Given the description of an element on the screen output the (x, y) to click on. 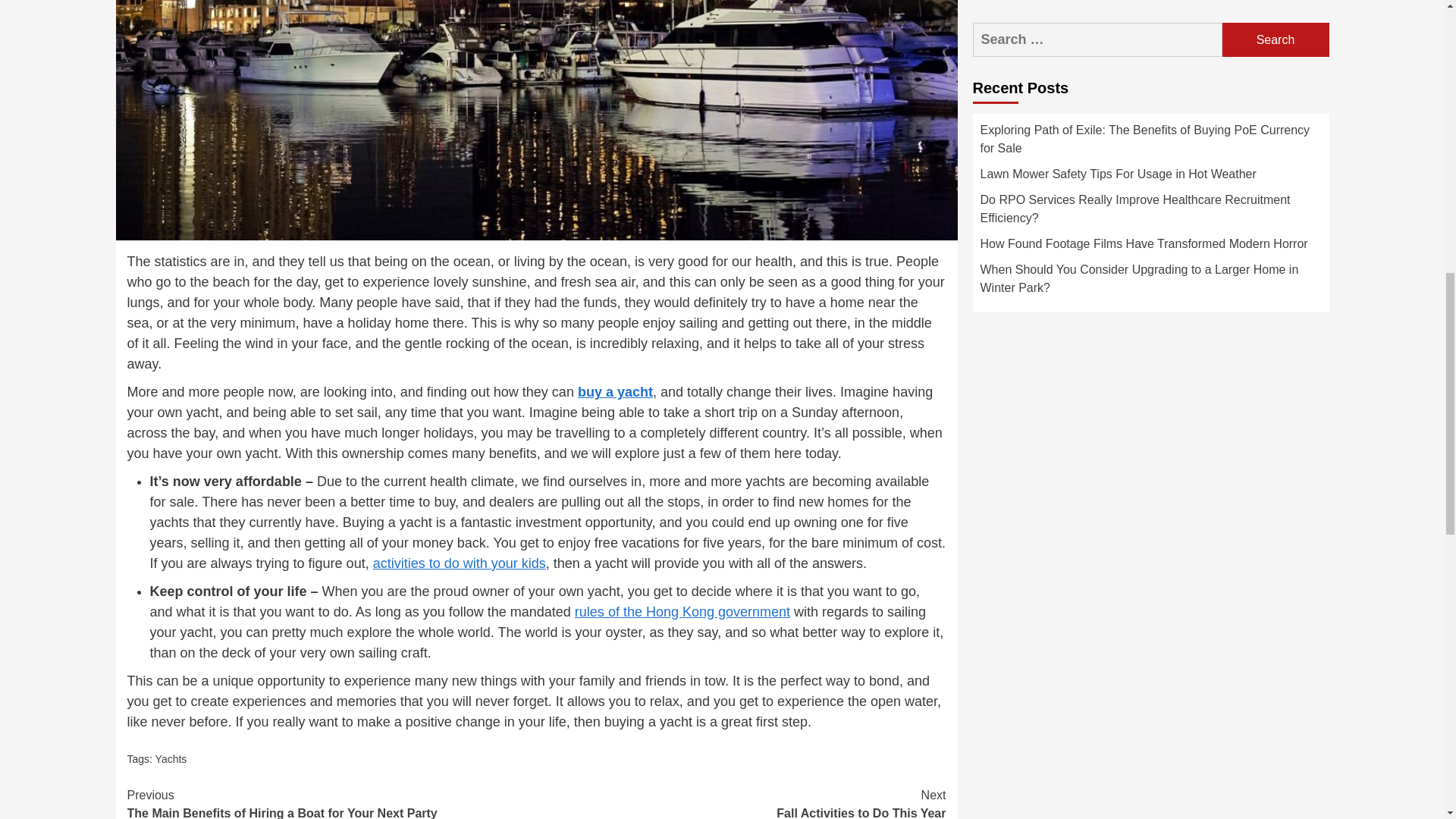
activities to do with your kids (741, 802)
rules of the Hong Kong government (459, 563)
buy a yacht (682, 611)
Yachts (615, 391)
